Given the description of an element on the screen output the (x, y) to click on. 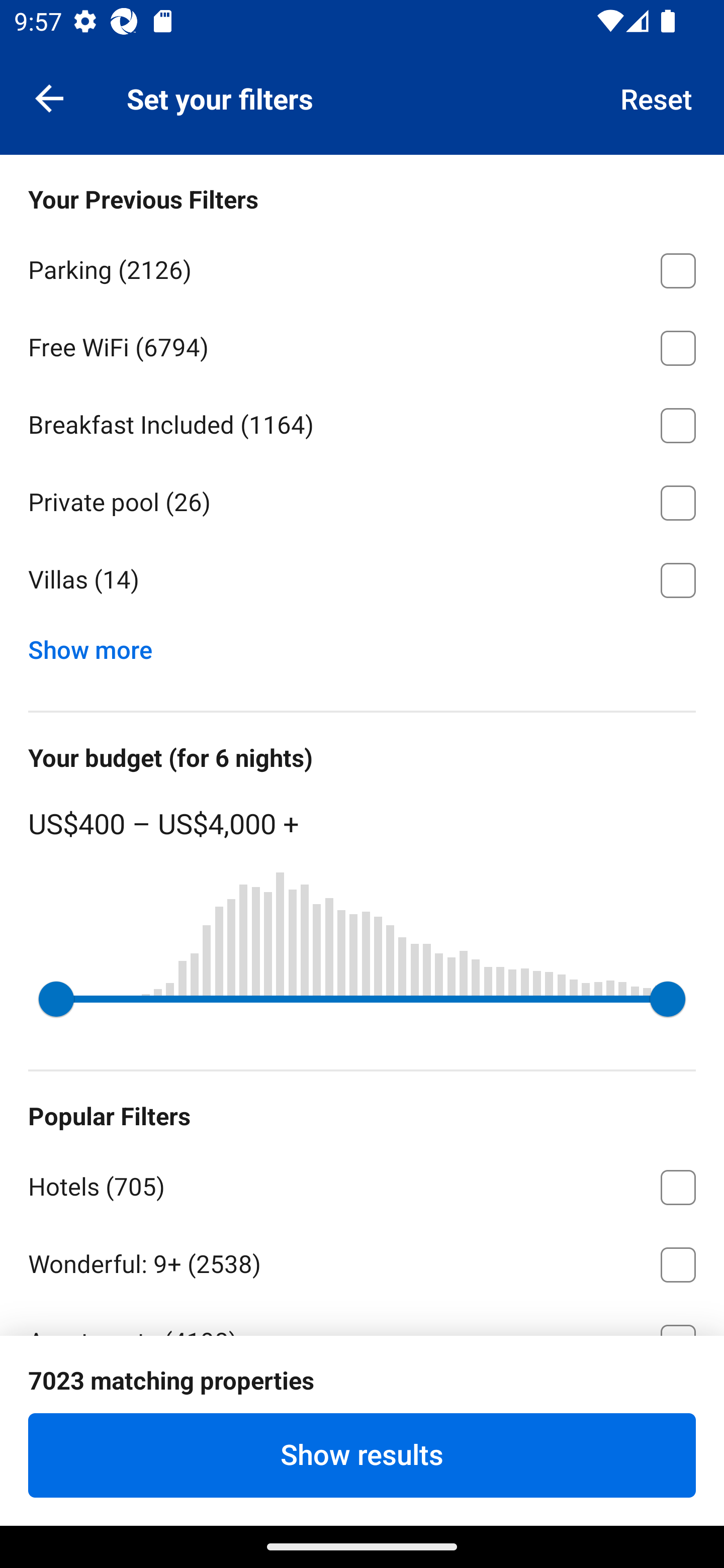
Navigate up (49, 97)
Reset (656, 97)
Parking ⁦(2126) (361, 266)
Free WiFi ⁦(6794) (361, 344)
Breakfast Included ⁦(1164) (361, 422)
Private pool ⁦(26) (361, 498)
Villas ⁦(14) (361, 579)
Show more (97, 645)
Hotels ⁦(705) (361, 1183)
Wonderful: 9+ ⁦(2538) (361, 1261)
Show results (361, 1454)
